Given the description of an element on the screen output the (x, y) to click on. 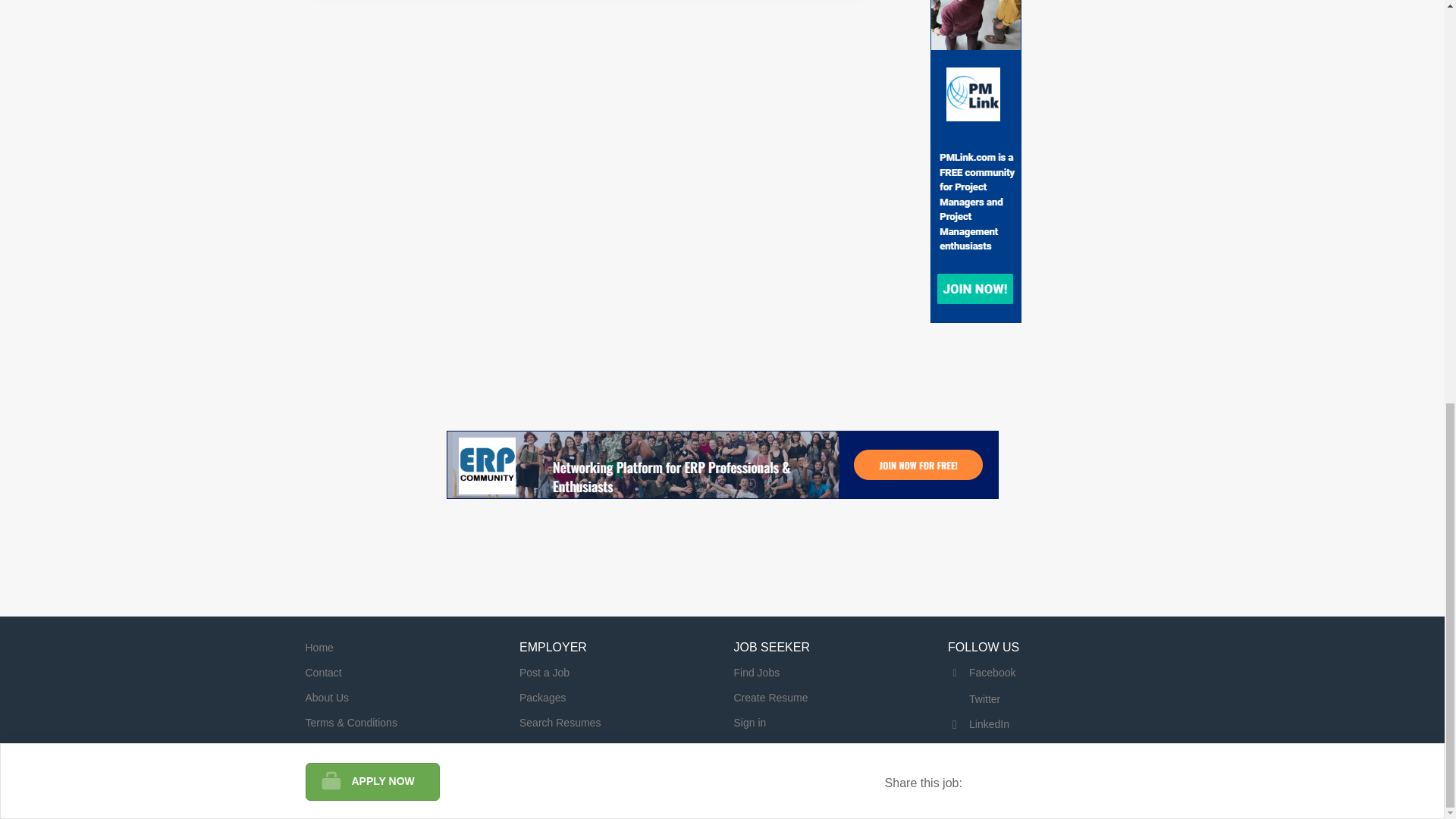
Facebook (980, 672)
Home (318, 647)
About Us (326, 697)
Contact (322, 672)
Partners (324, 747)
APPLY NOW (371, 2)
